Given the description of an element on the screen output the (x, y) to click on. 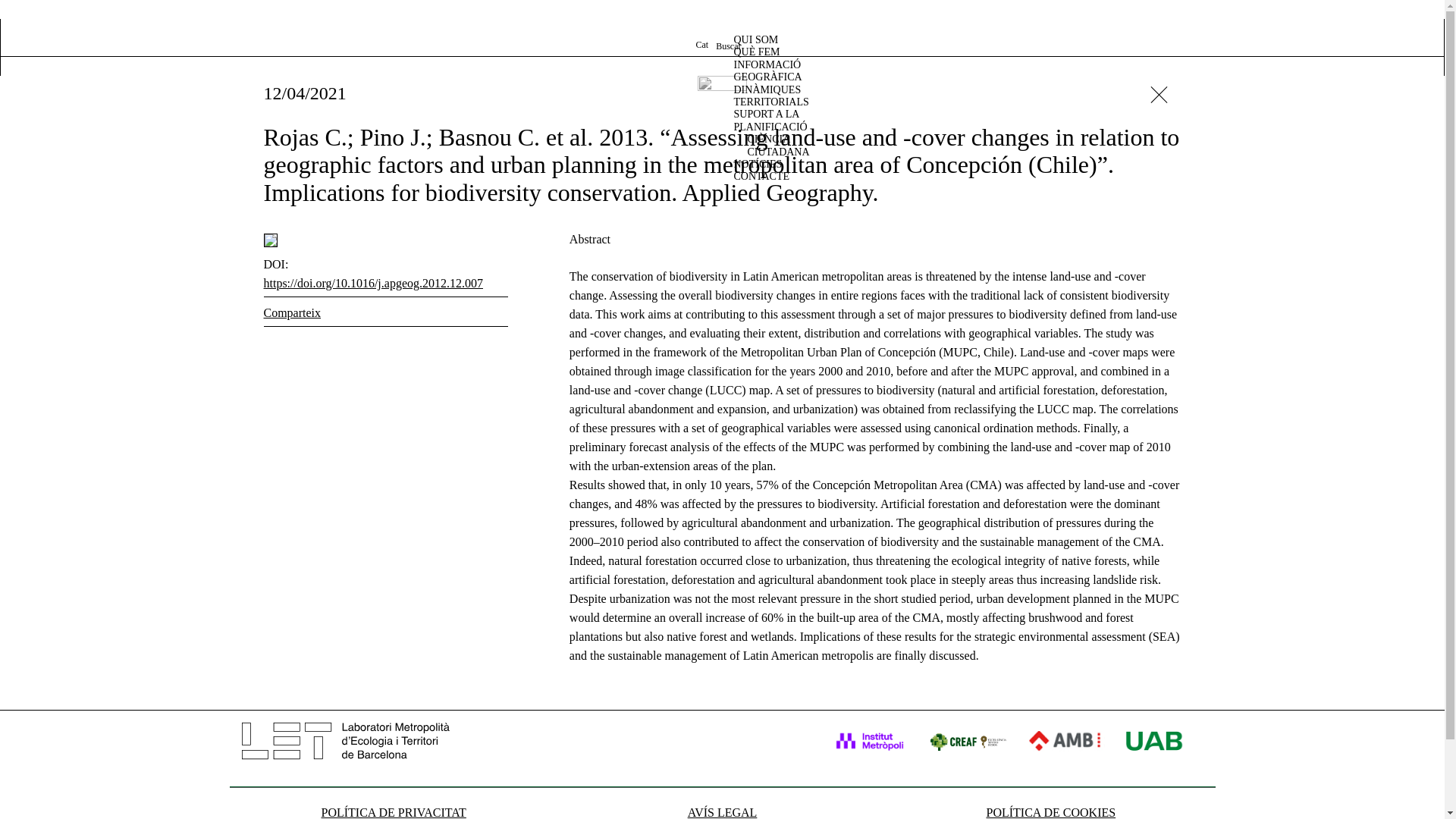
Comparteix (292, 312)
CONTACTE (765, 176)
QUI SOM (763, 39)
